Given the description of an element on the screen output the (x, y) to click on. 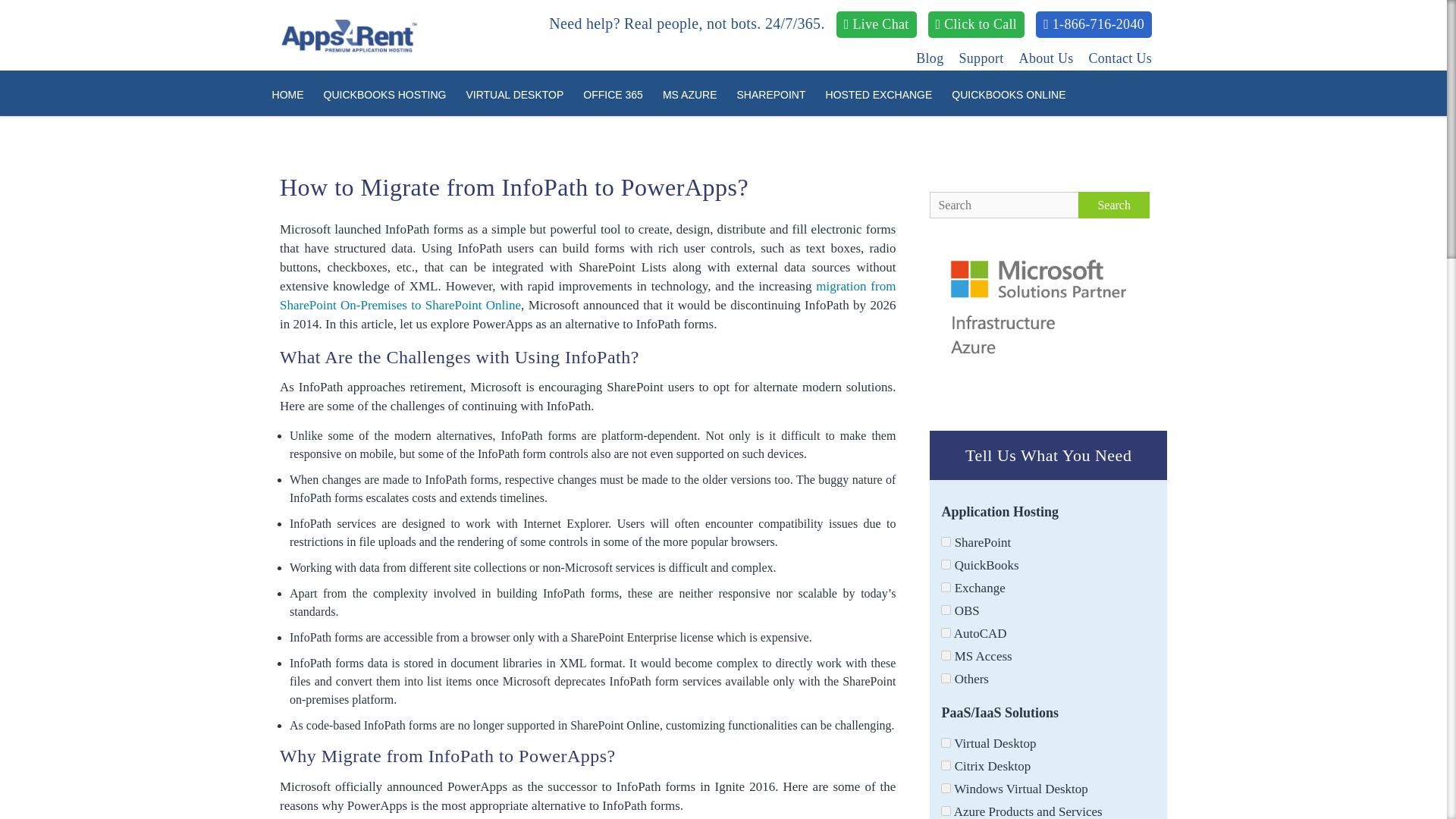
AutoCAD (945, 633)
Windows Virtual Desktop (945, 787)
SharePoint (945, 542)
Live Chat (876, 24)
SHAREPOINT (770, 94)
VIRTUAL DESKTOP (514, 94)
Exchange (945, 587)
Support (980, 58)
About Us (1046, 58)
Search (1114, 204)
Blog (929, 58)
1-866-716-2040 (1093, 24)
SUBMIT REQUEST (917, 458)
Others (945, 678)
MS AZURE (689, 94)
